Given the description of an element on the screen output the (x, y) to click on. 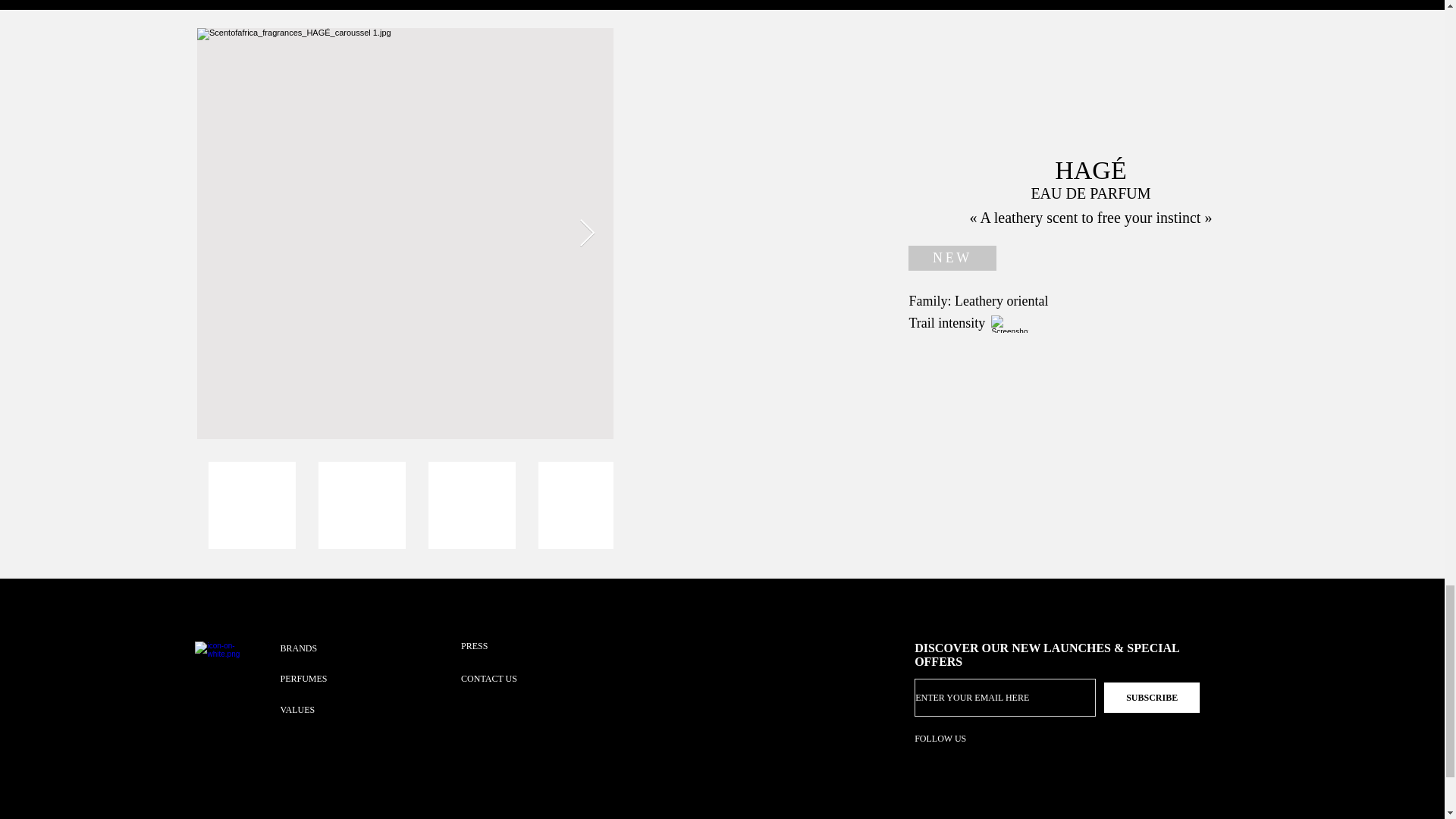
SUBSCRIBE (1151, 697)
BRANDS (323, 648)
CONTACT US (515, 678)
PERFUMES (323, 678)
VALUES (323, 709)
PRESS (505, 645)
